Given the description of an element on the screen output the (x, y) to click on. 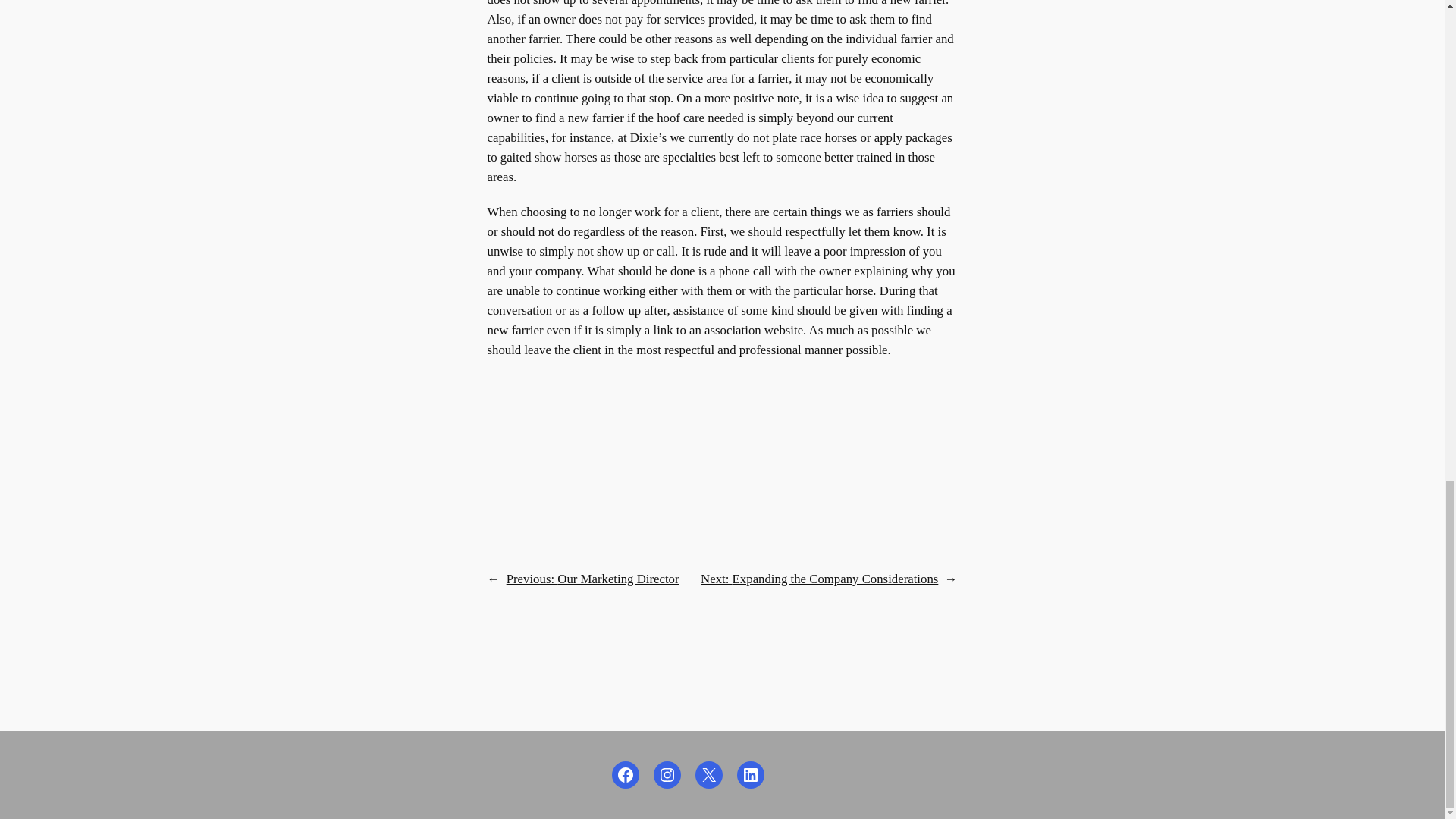
Previous: Our Marketing Director (592, 578)
Next: Expanding the Company Considerations (818, 578)
X (708, 774)
Facebook (625, 774)
Instagram (667, 774)
LinkedIn (750, 774)
